Given the description of an element on the screen output the (x, y) to click on. 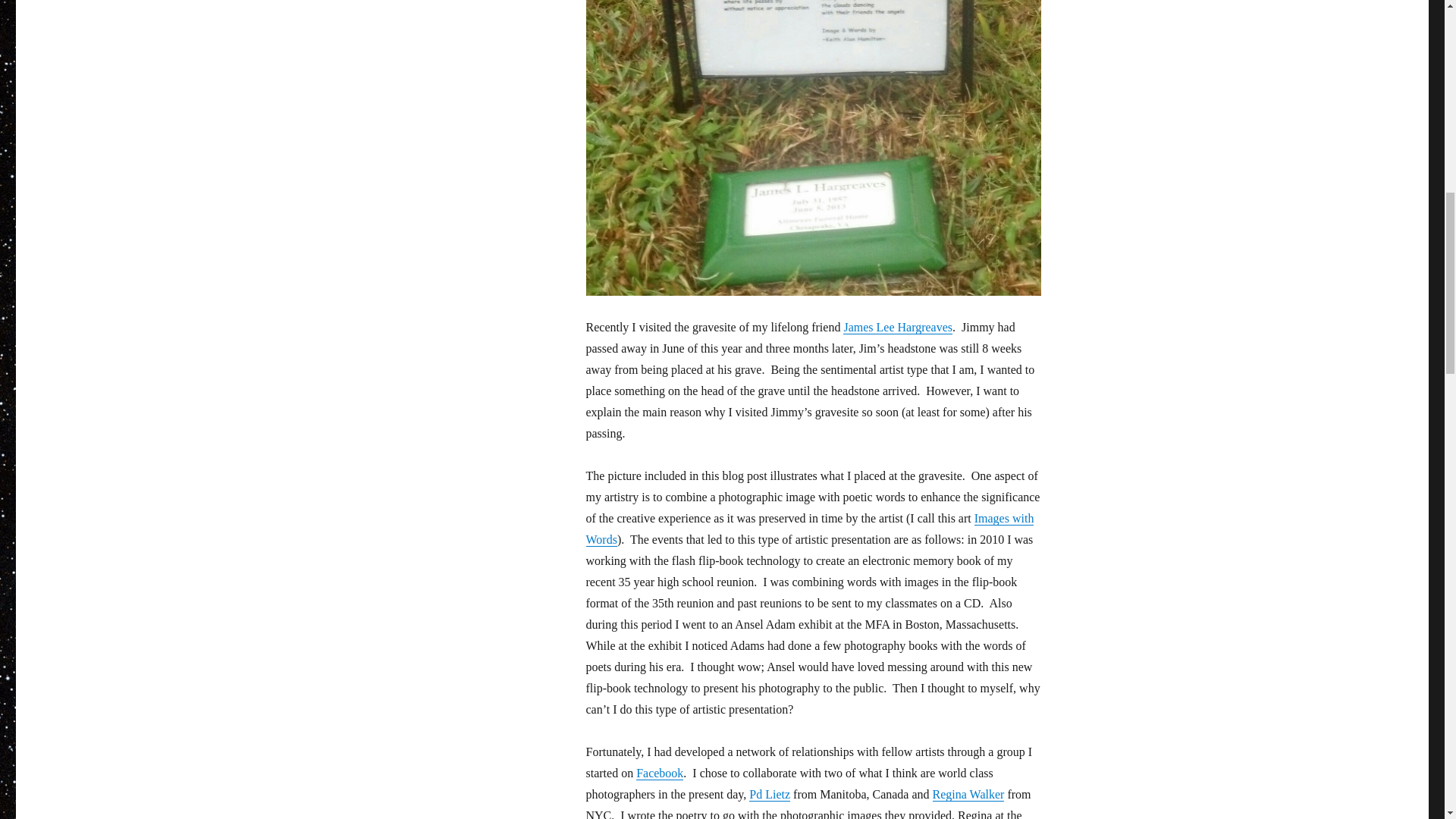
James Lee Hargreaves (897, 327)
Images with Words (809, 528)
Regina Walker (968, 793)
Facebook (659, 772)
Pd Lietz (769, 793)
